Given the description of an element on the screen output the (x, y) to click on. 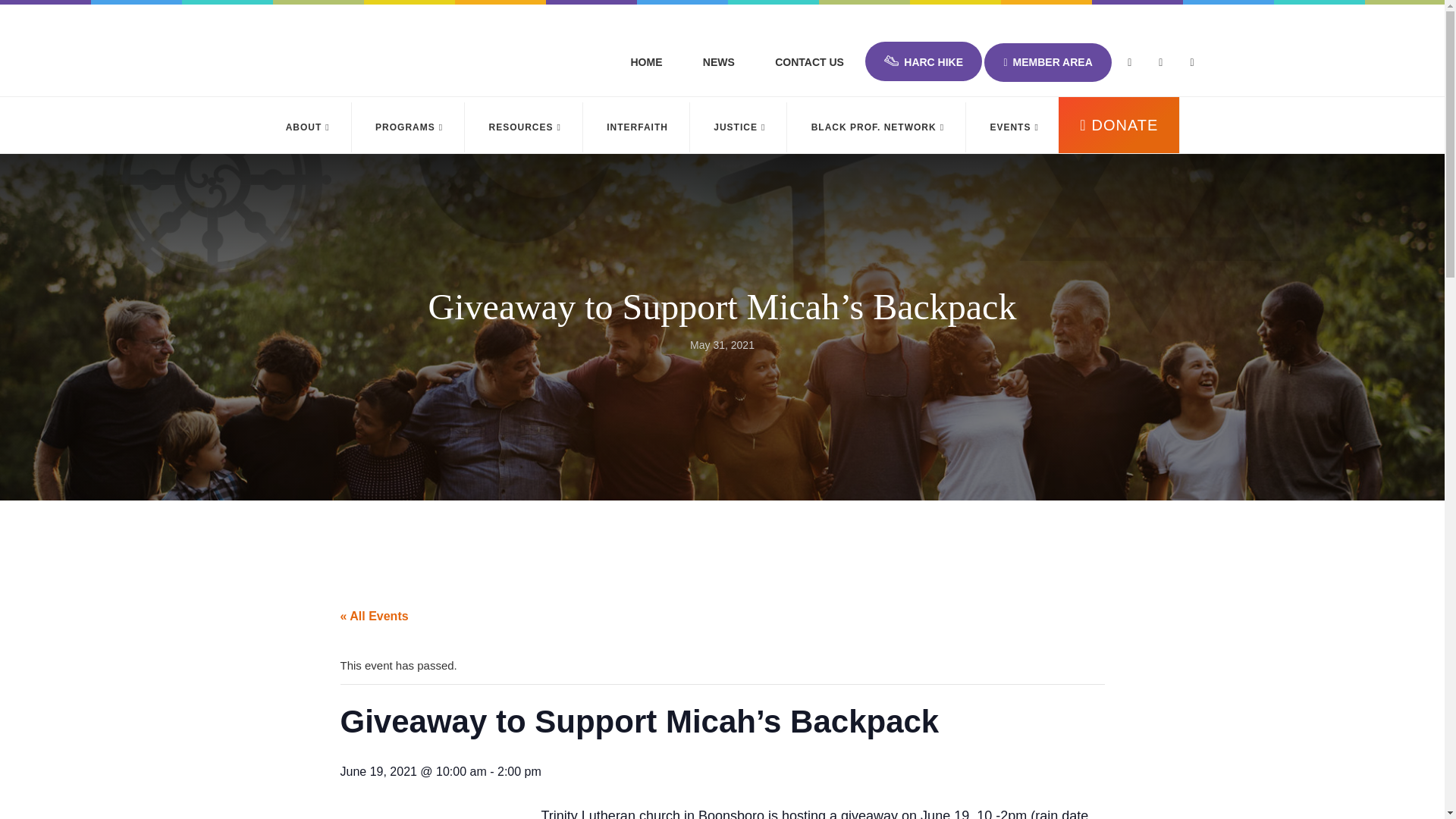
INTERFAITH (637, 127)
HARC HIKE (922, 61)
MEMBER AREA (1047, 62)
NEWS (719, 62)
JUSTICE (740, 127)
ABOUT (308, 127)
CONTACT US (809, 62)
RESOURCES (524, 127)
PROGRAMS (408, 127)
